Given the description of an element on the screen output the (x, y) to click on. 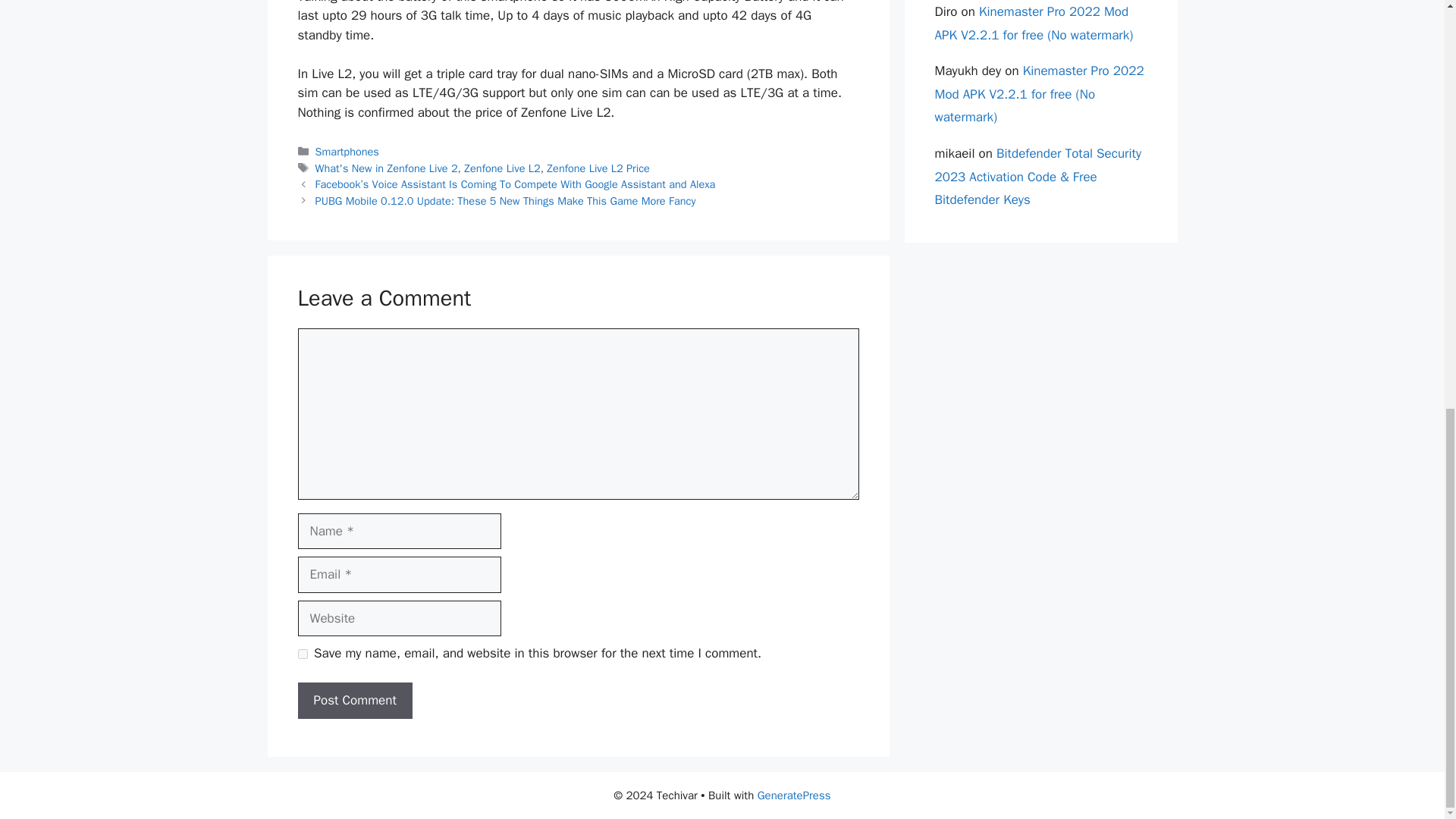
Zenfone Live L2 Price (598, 168)
Post Comment (354, 700)
What's New in Zenfone Live 2 (386, 168)
Smartphones (346, 151)
GeneratePress (794, 795)
Post Comment (354, 700)
Zenfone Live L2 (502, 168)
yes (302, 654)
